Given the description of an element on the screen output the (x, y) to click on. 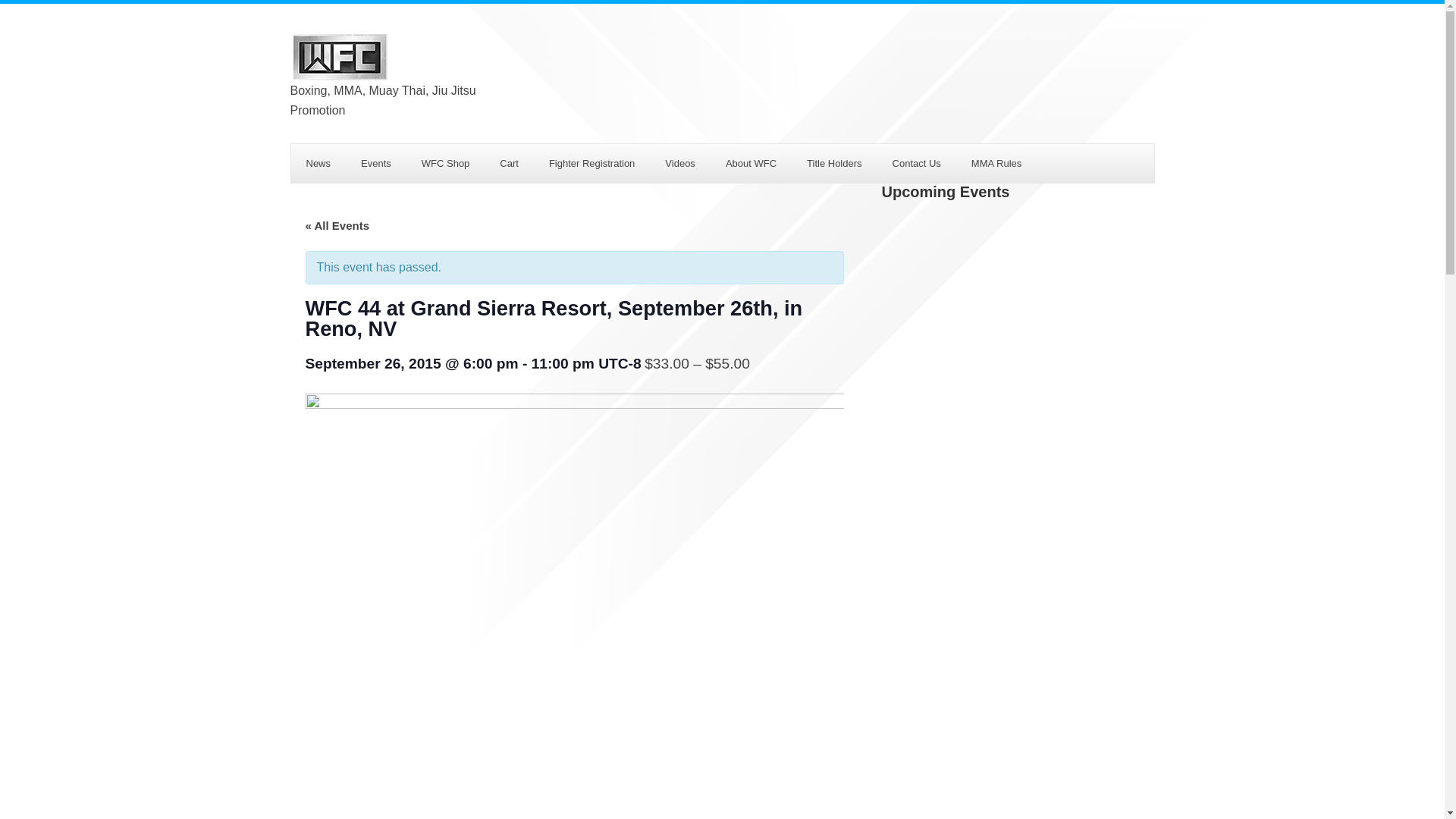
Cart (509, 163)
About WFC (751, 163)
MMA Rules (996, 163)
Videos (679, 163)
Contact Us (916, 163)
Title Holders (834, 163)
WFC Shop (445, 163)
Fighter Registration (591, 163)
Events (376, 163)
News (318, 163)
